Given the description of an element on the screen output the (x, y) to click on. 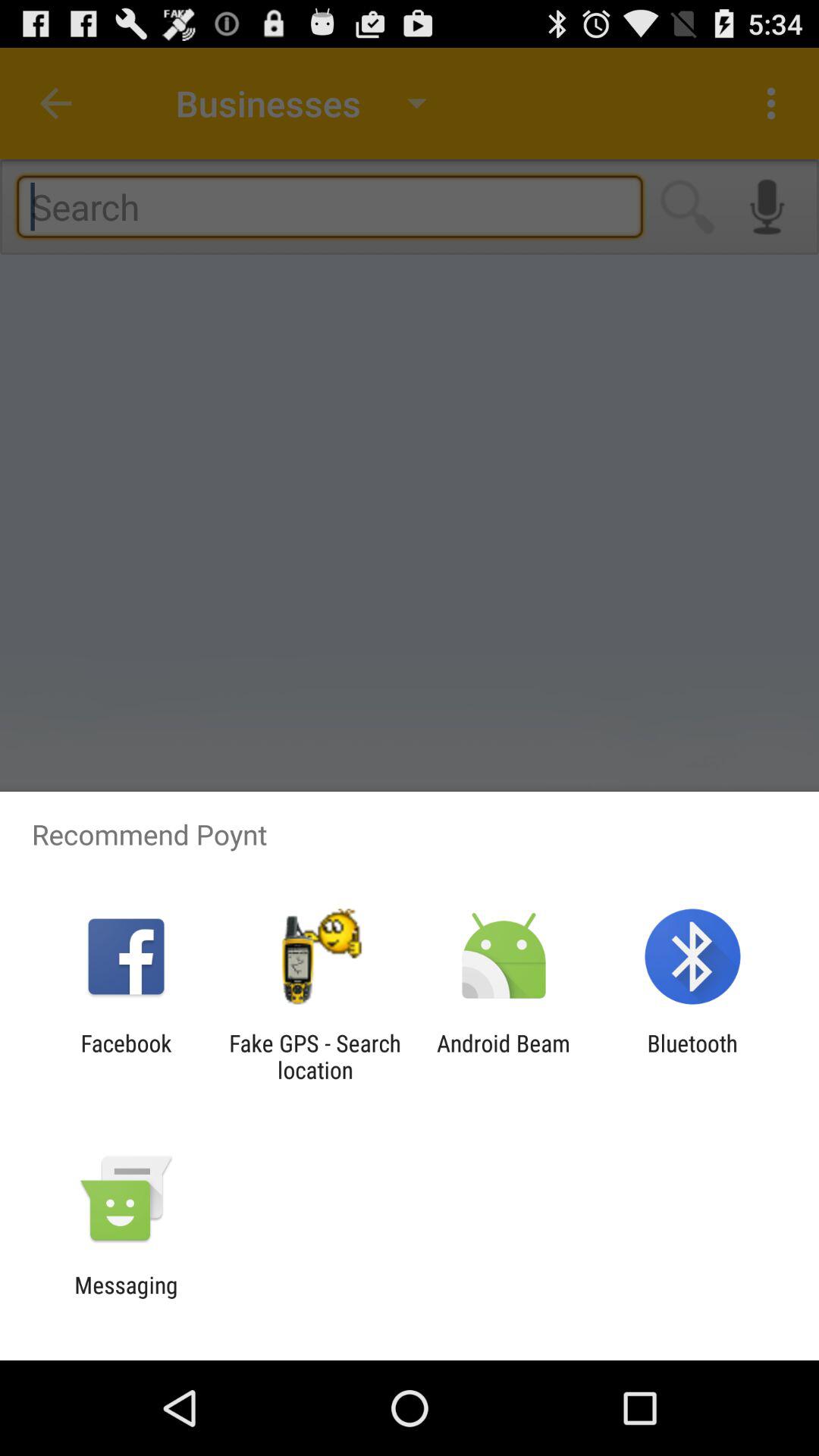
tap icon to the right of the facebook (314, 1056)
